Given the description of an element on the screen output the (x, y) to click on. 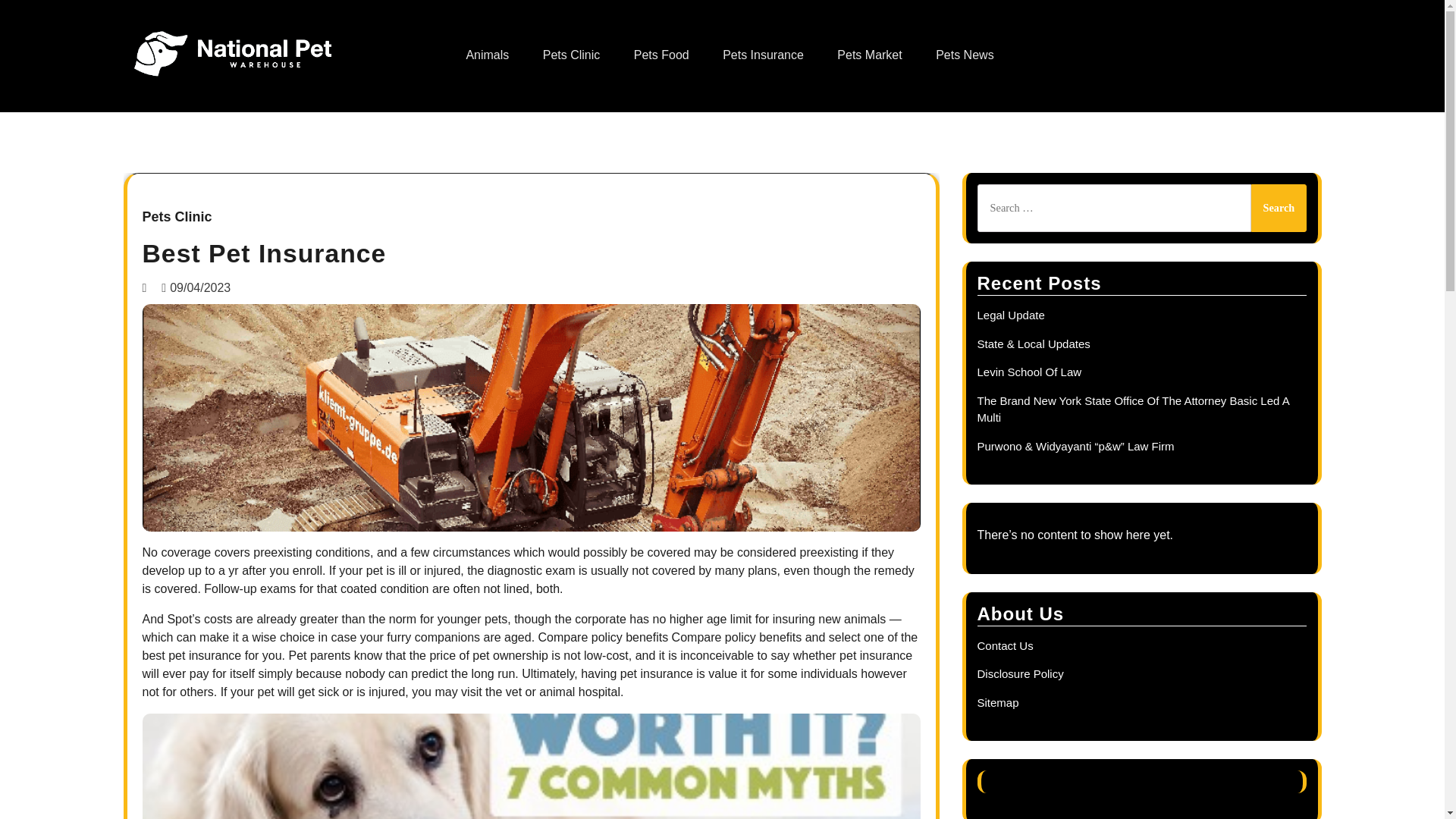
Disclosure Policy (1019, 673)
Pets Food (661, 55)
Pets Market (869, 55)
Contact Us (1004, 645)
Legal Update (1009, 314)
Animals (486, 55)
Search (1278, 208)
Search (1278, 208)
Sitemap (996, 702)
Levin School Of Law (1028, 371)
